Given the description of an element on the screen output the (x, y) to click on. 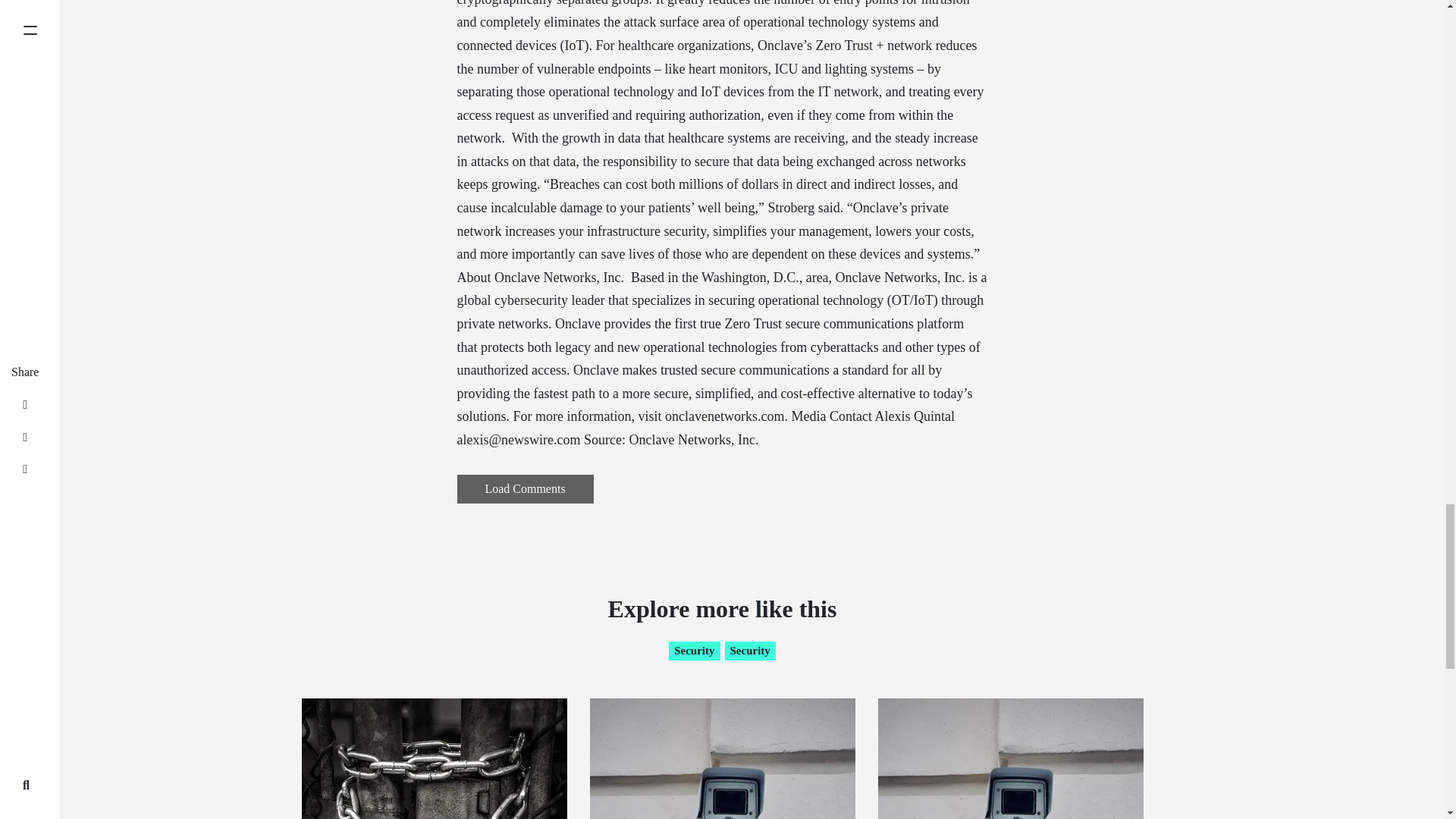
Security (693, 650)
Security (750, 650)
Load Comments (524, 489)
Security (750, 650)
Security (693, 650)
